Given the description of an element on the screen output the (x, y) to click on. 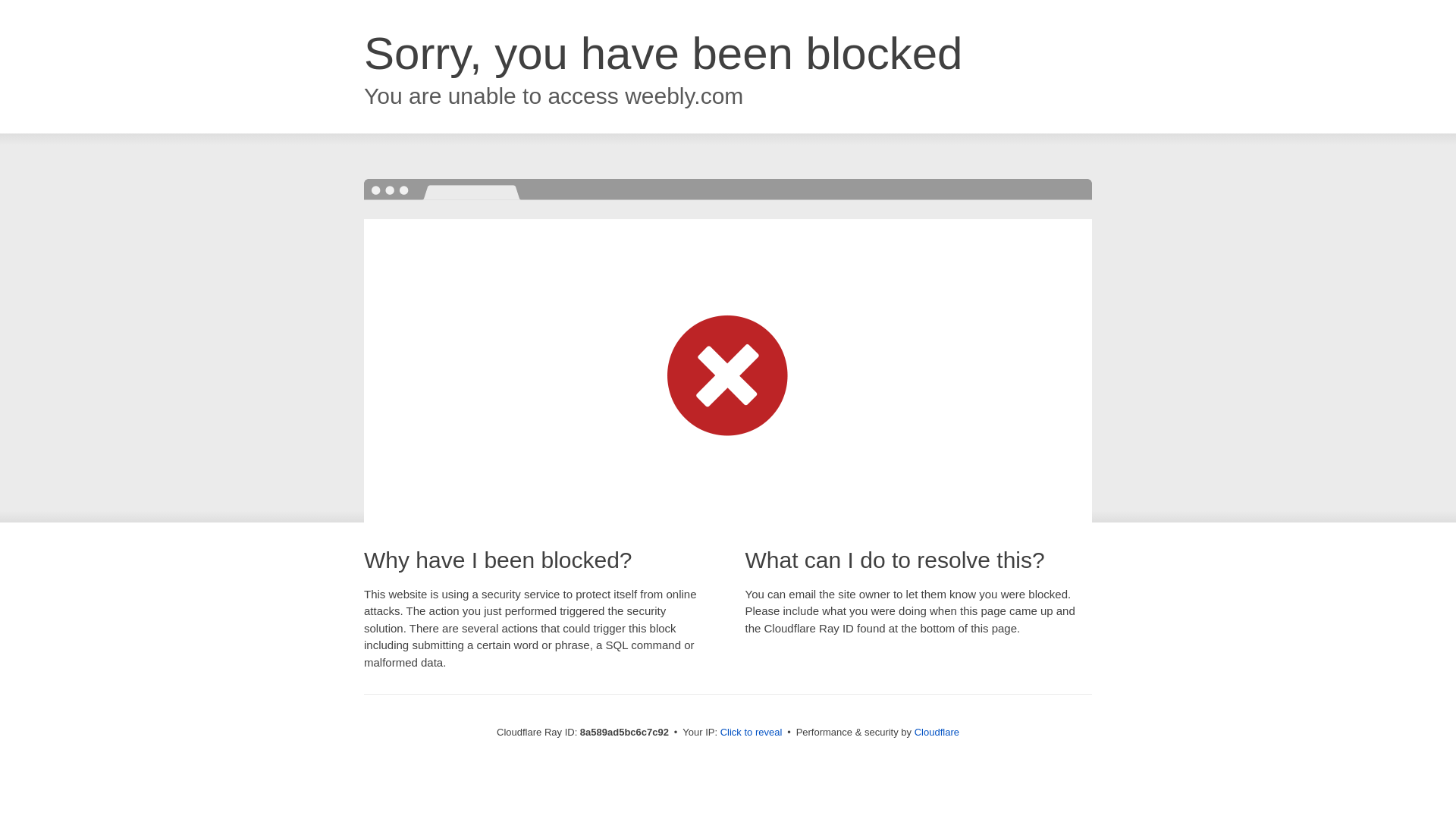
Click to reveal (751, 732)
Cloudflare (936, 731)
